Given the description of an element on the screen output the (x, y) to click on. 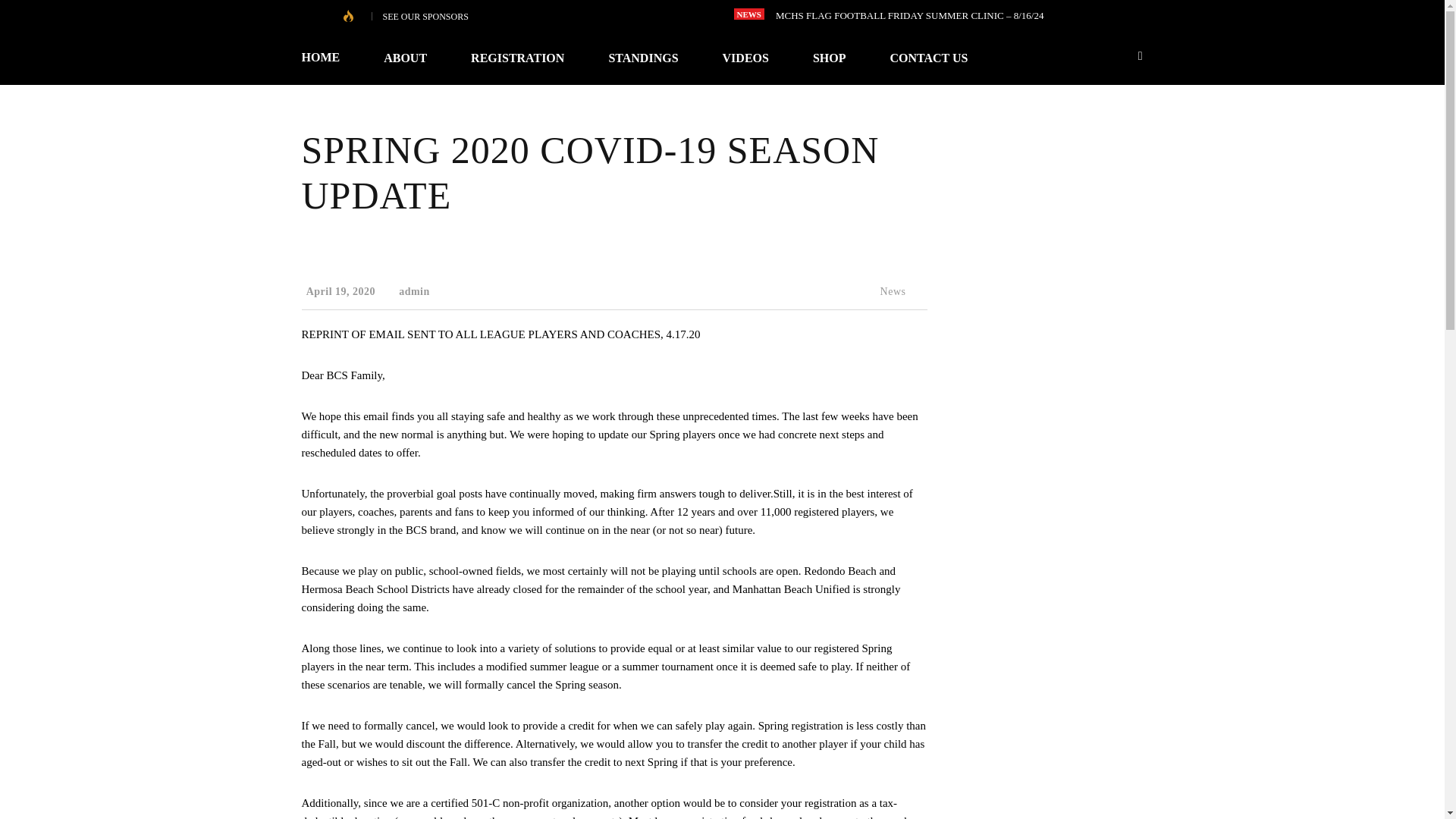
REGISTRATION (517, 58)
SEE OUR SPONSORS (424, 16)
VIDEOS (745, 58)
HOME (331, 57)
SHOP (828, 58)
CONTACT US (928, 58)
ABOUT (404, 58)
STANDINGS (643, 58)
